Given the description of an element on the screen output the (x, y) to click on. 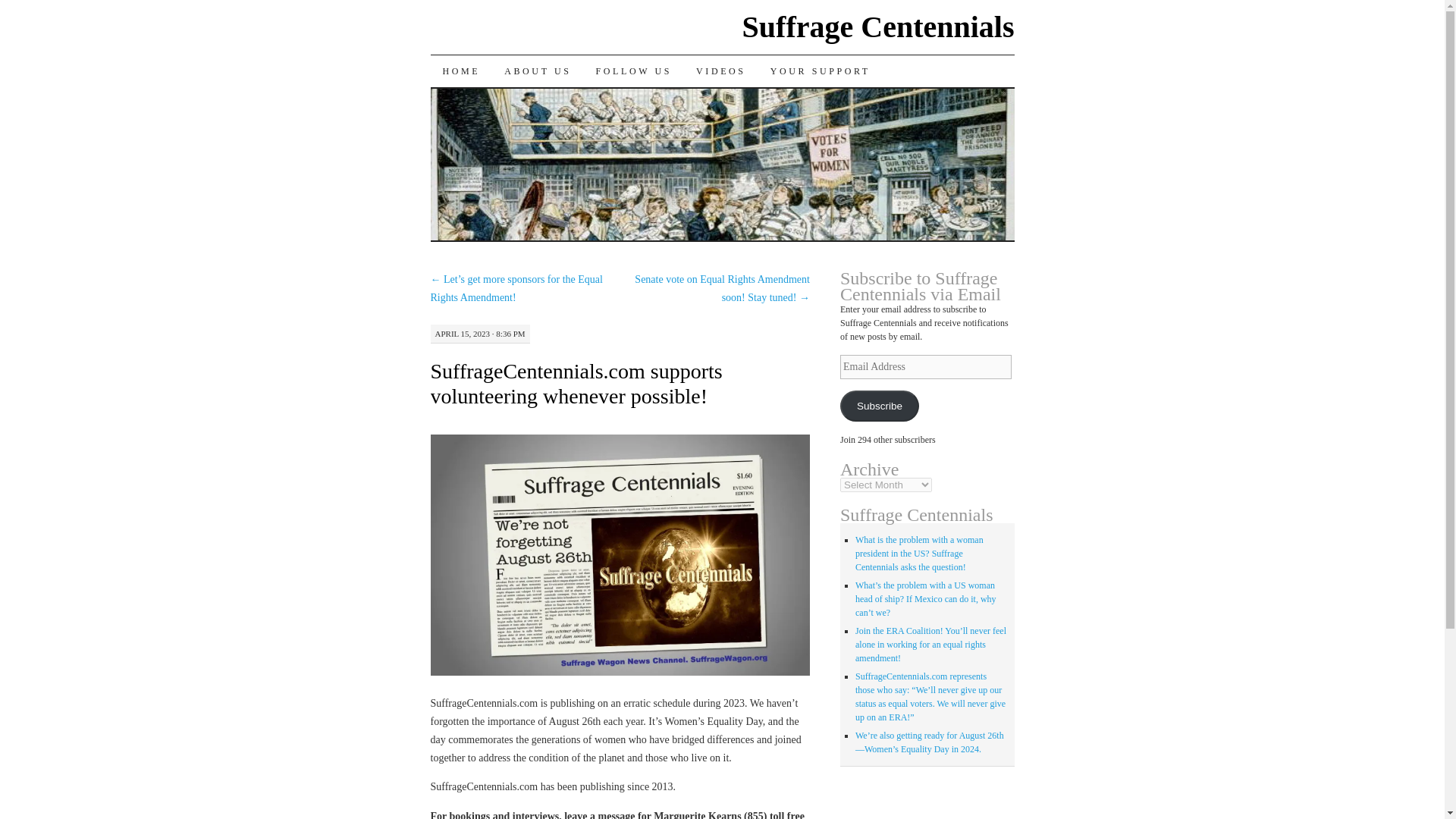
SKIP TO CONTENT (440, 101)
HOME (461, 70)
Suffrage Centennials (878, 26)
Suffrage Centennials (878, 26)
Subscribe (879, 405)
YOUR SUPPORT (820, 70)
FOLLOW US (633, 70)
VIDEOS (721, 70)
Skip to content (440, 101)
ABOUT US (537, 70)
